Given the description of an element on the screen output the (x, y) to click on. 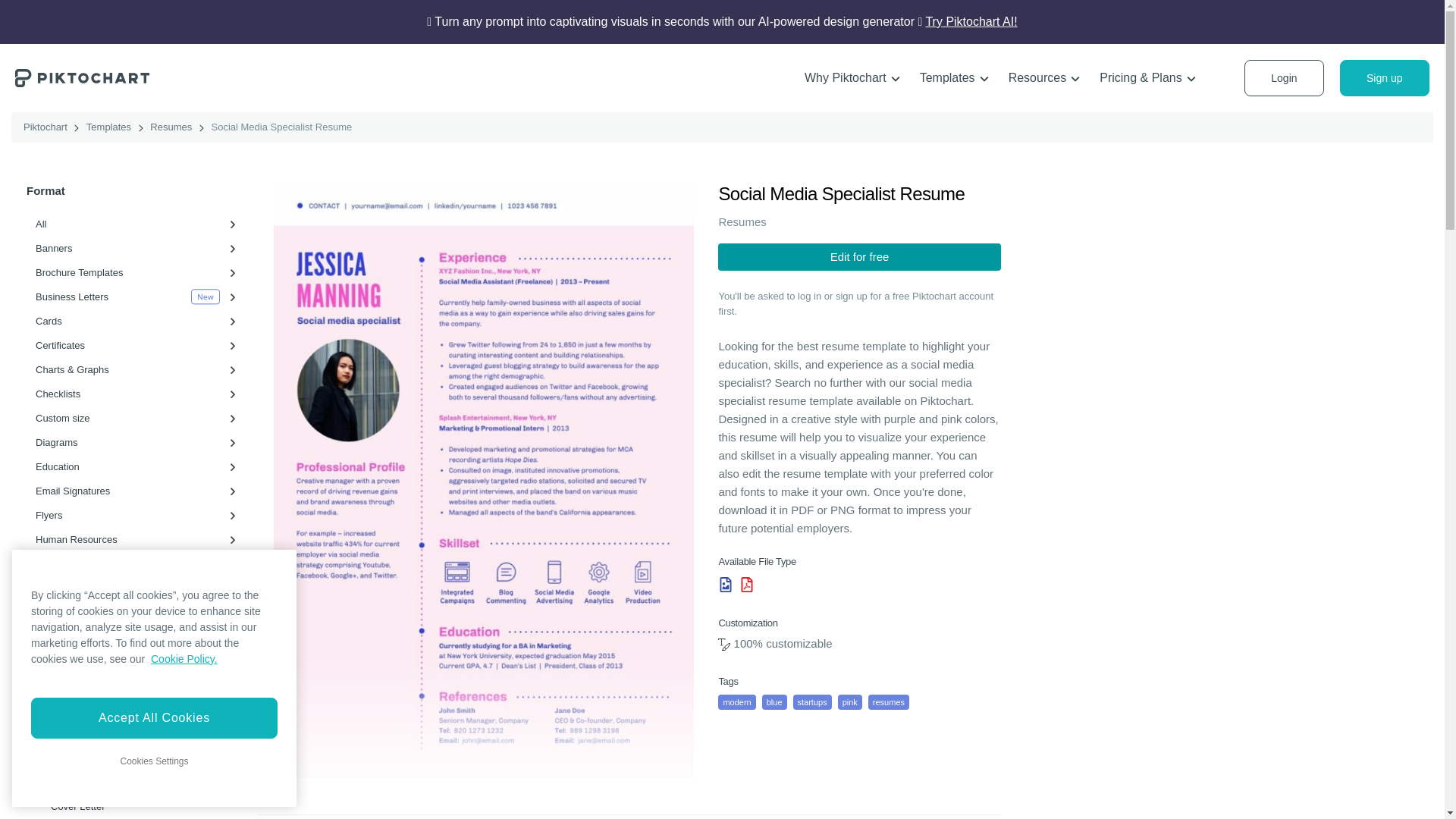
Try Piktochart AI! (970, 21)
Piktochart (81, 77)
Why Piktochart (852, 78)
Why Piktochart (852, 78)
